Given the description of an element on the screen output the (x, y) to click on. 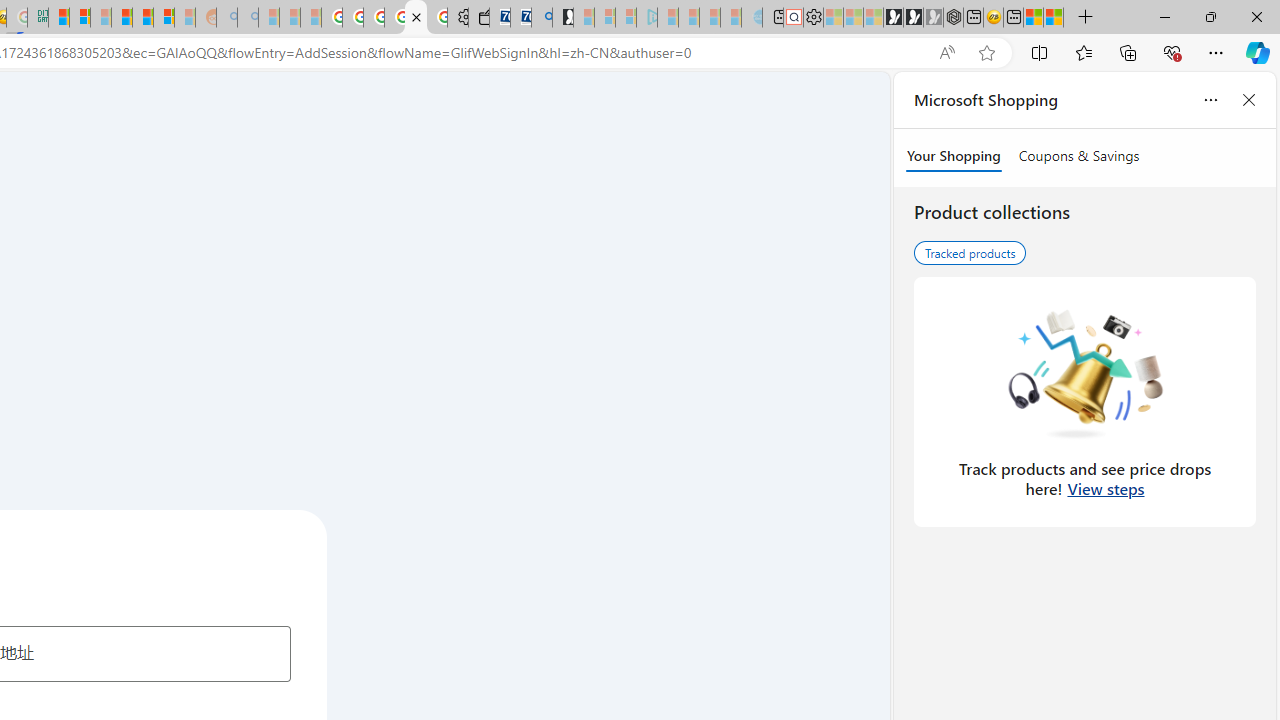
Microsoft Start Gaming (563, 17)
Home | Sky Blue Bikes - Sky Blue Bikes - Sleeping (751, 17)
Expert Portfolios (121, 17)
Utah sues federal government - Search - Sleeping (248, 17)
Microsoft account | Privacy - Sleeping (625, 17)
